Given the description of an element on the screen output the (x, y) to click on. 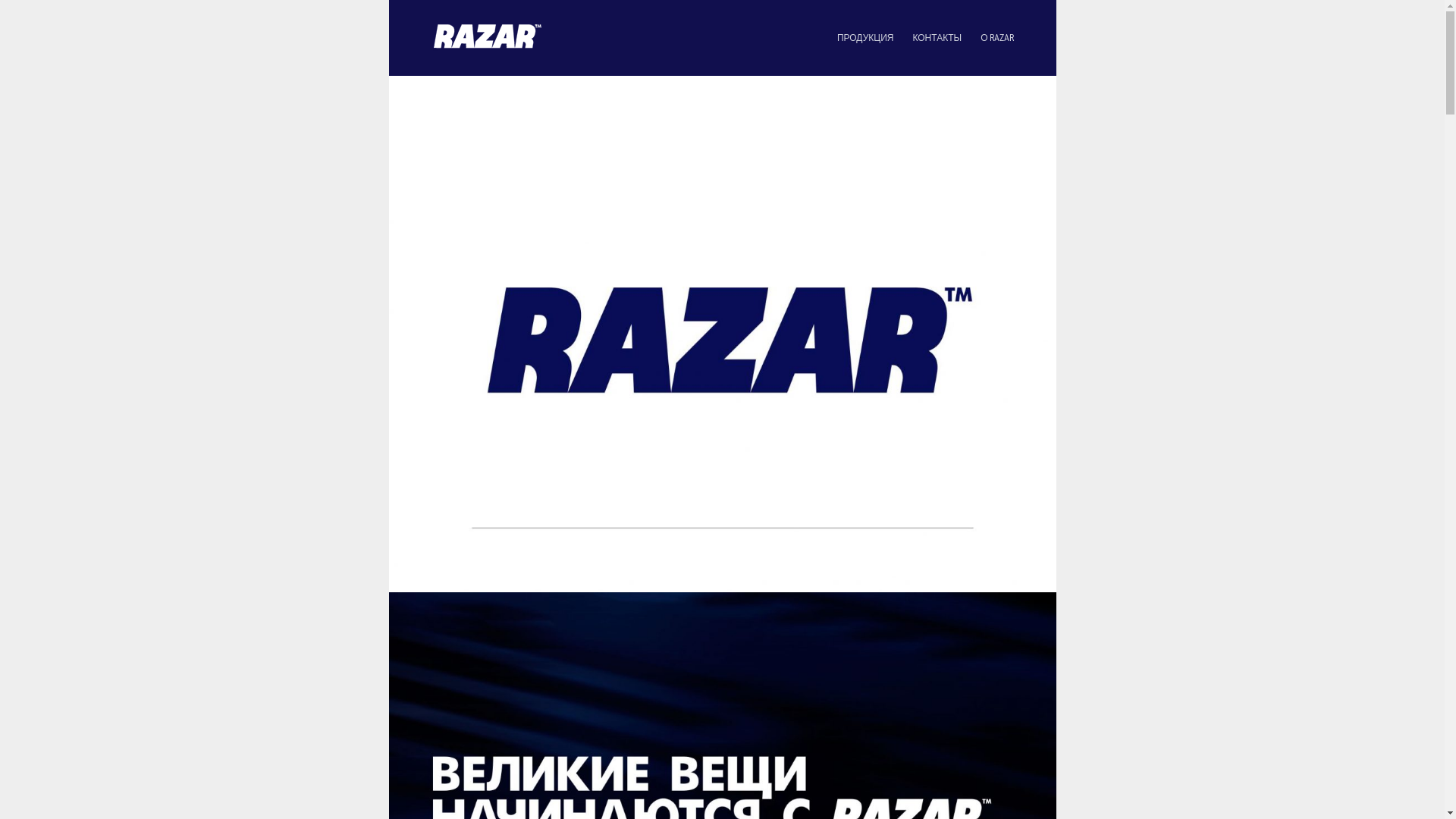
11-1 Element type: hover (721, 354)
